Given the description of an element on the screen output the (x, y) to click on. 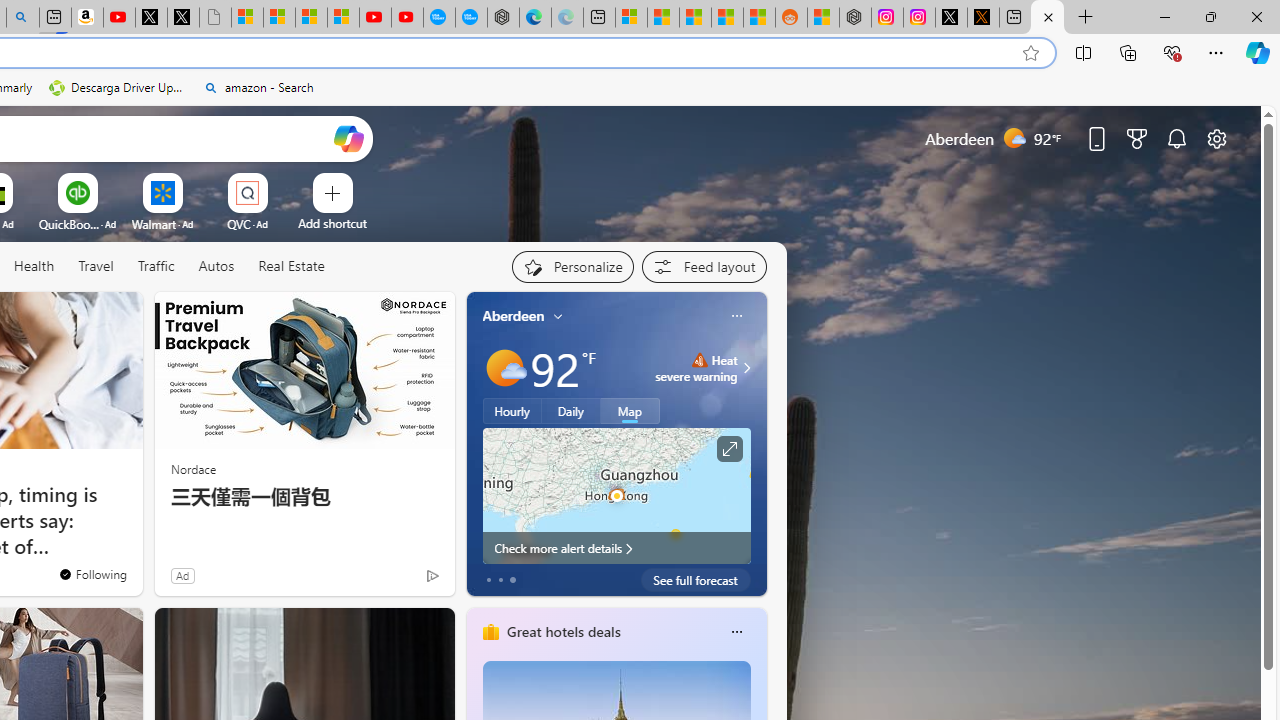
Great hotels deals (562, 631)
Class: weather-arrow-glyph (746, 367)
My location (558, 315)
Mostly sunny (504, 368)
Personalize your feed" (571, 266)
